Given the description of an element on the screen output the (x, y) to click on. 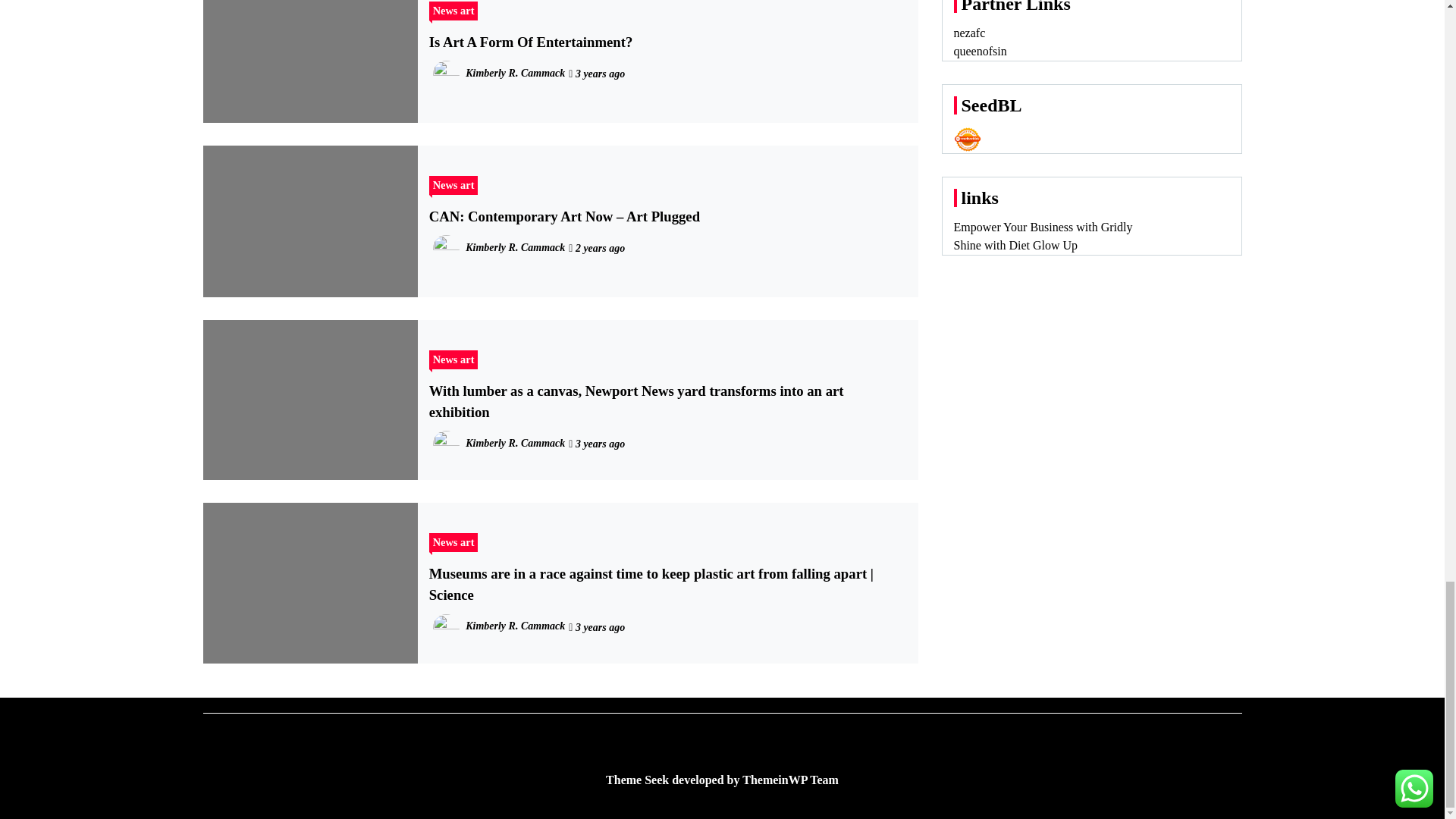
Seedbacklink (967, 139)
